Given the description of an element on the screen output the (x, y) to click on. 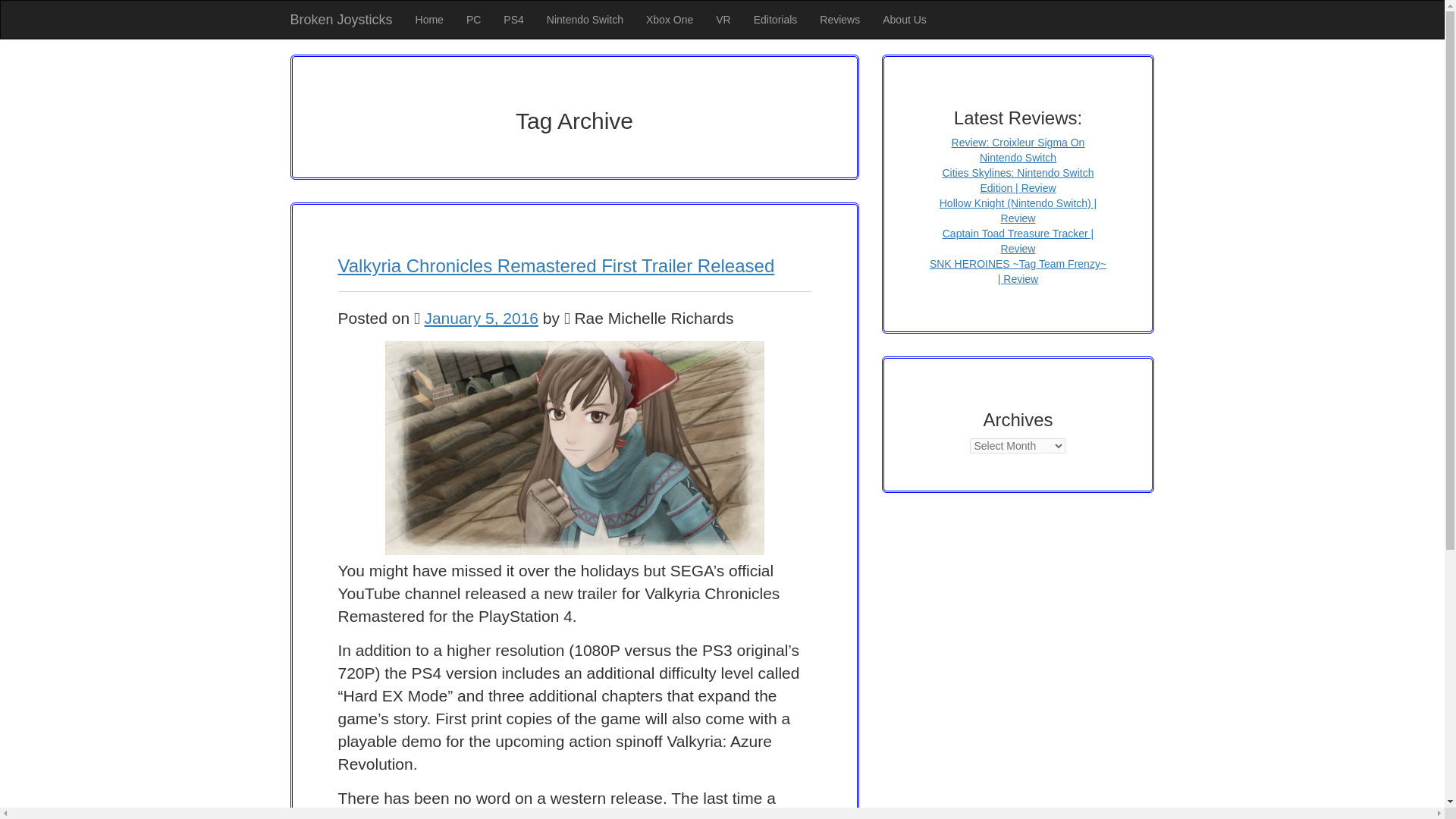
PC (473, 19)
PC (473, 19)
Editorials (775, 19)
Editorials (775, 19)
VR (722, 19)
January 5, 2016 (480, 317)
PS4 (513, 19)
Broken Joysticks (341, 19)
Xbox One (669, 19)
Nintendo Switch (584, 19)
Valkyria Chronicles Remastered First Trailer Released (555, 265)
Xbox One (669, 19)
Home (429, 19)
About Us (903, 19)
VR (722, 19)
